Given the description of an element on the screen output the (x, y) to click on. 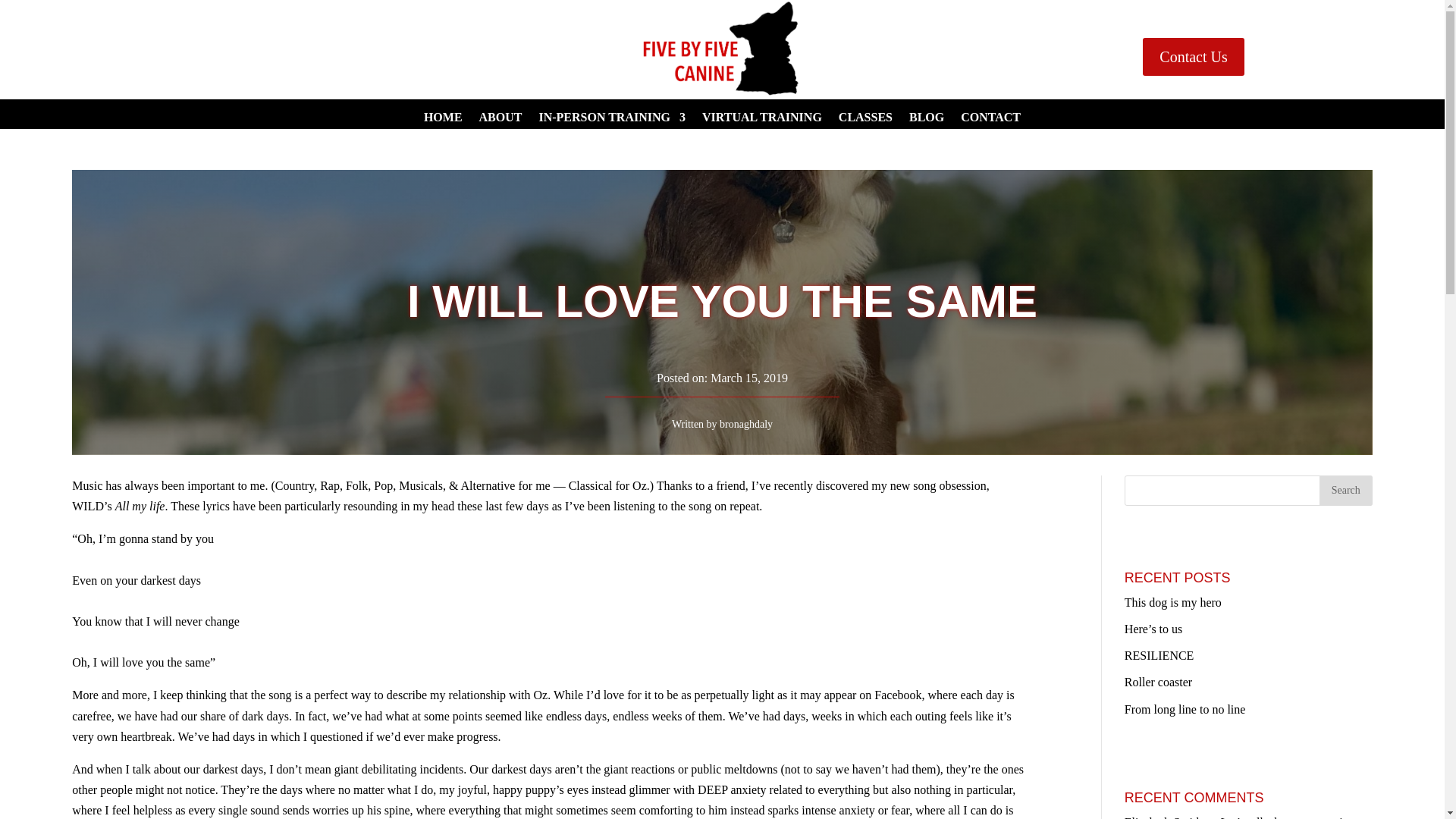
CONTACT (990, 120)
Contact Us (1192, 56)
CLASSES (865, 120)
Search (1346, 490)
VIRTUAL TRAINING (761, 120)
Search (1346, 490)
IN-PERSON TRAINING (611, 120)
BLOG (925, 120)
Roller coaster (1158, 681)
This dog is my hero (1172, 602)
HOME (443, 120)
From long line to no line (1185, 708)
RESILIENCE (1158, 655)
ABOUT (500, 120)
